Given the description of an element on the screen output the (x, y) to click on. 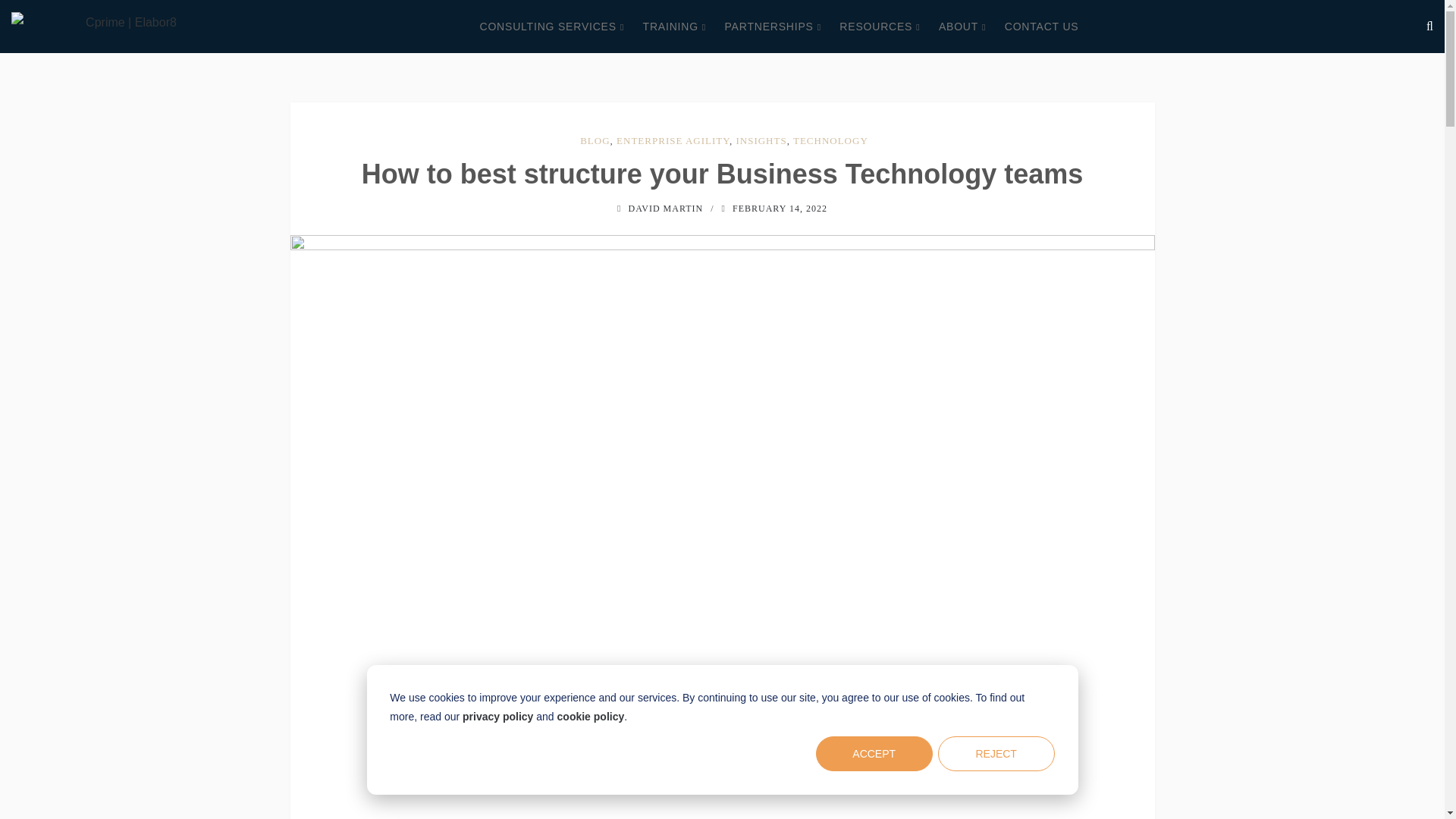
PARTNERSHIPS (772, 26)
ENTERPRISE AGILITY (672, 140)
TRAINING (674, 26)
FEBRUARY 14, 2022 (779, 208)
TECHNOLOGY (830, 140)
RESOURCES (880, 26)
CONSULTING SERVICES (552, 26)
INSIGHTS (760, 140)
DAVID MARTIN (665, 208)
CONTACT US (1041, 26)
